Given the description of an element on the screen output the (x, y) to click on. 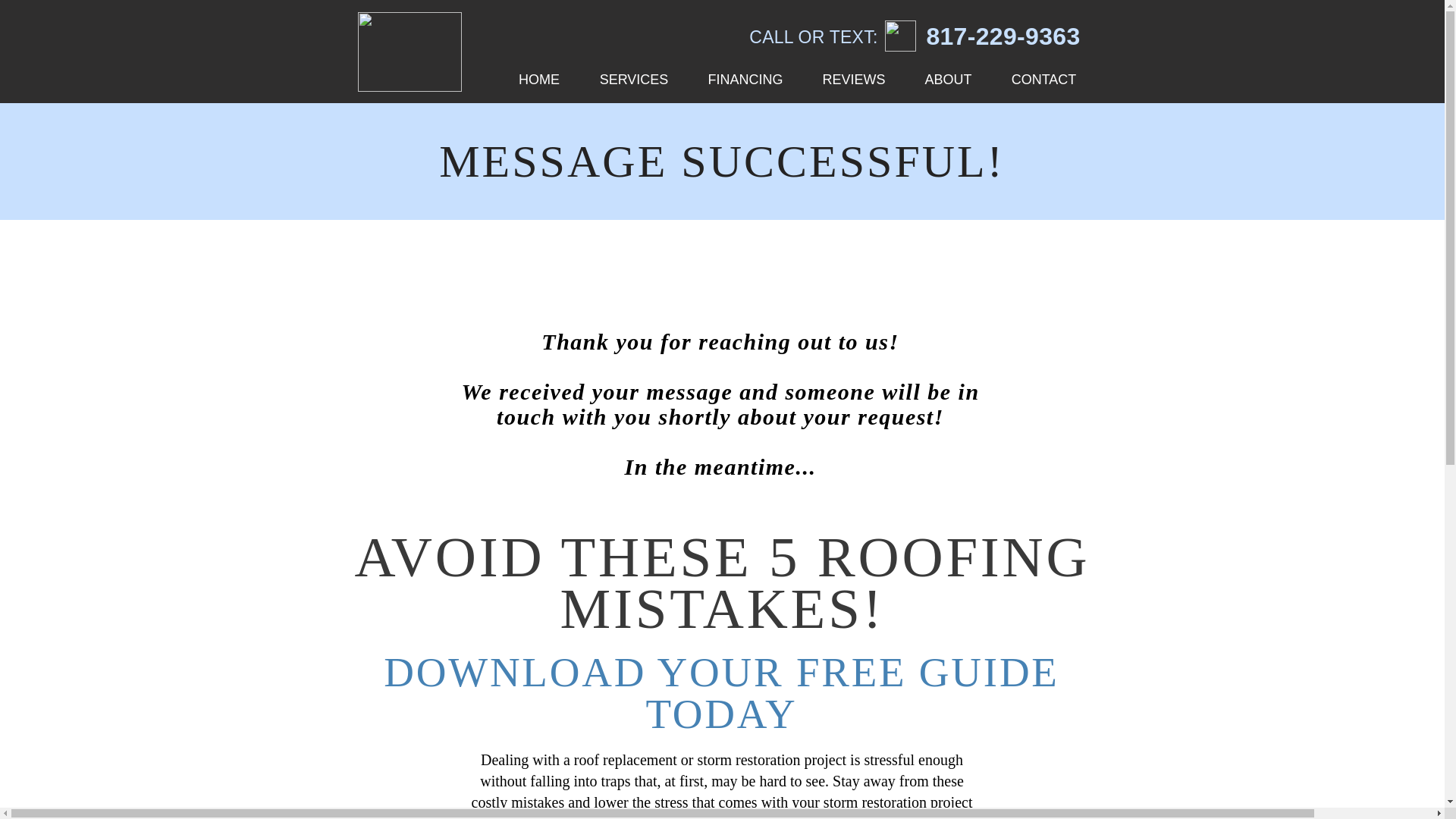
HOME (539, 79)
FINANCING (745, 79)
REVIEWS (853, 79)
CONTACT (1043, 79)
